Given the description of an element on the screen output the (x, y) to click on. 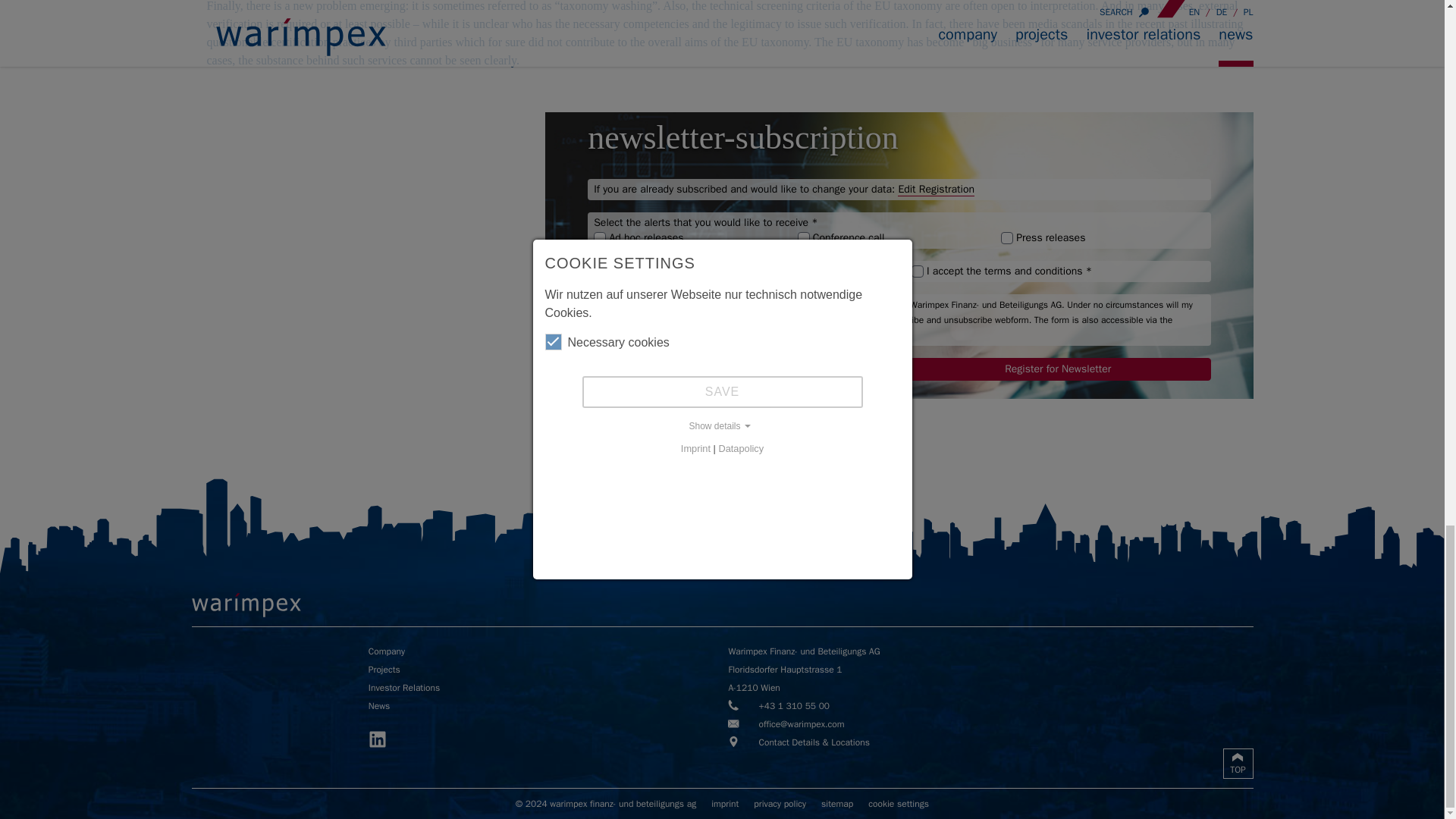
Newsletter Abonnieren (599, 304)
2 (803, 237)
3 (1007, 237)
Projects (542, 669)
Privacy Policy (780, 803)
Edit Registration (936, 189)
Investor Relations (542, 687)
News (542, 705)
Register for Newsletter (1058, 368)
Terms and conditions (917, 271)
Imprint (724, 803)
Investor Relations (542, 687)
Sitemap (837, 803)
Projects (542, 669)
1 (599, 237)
